Given the description of an element on the screen output the (x, y) to click on. 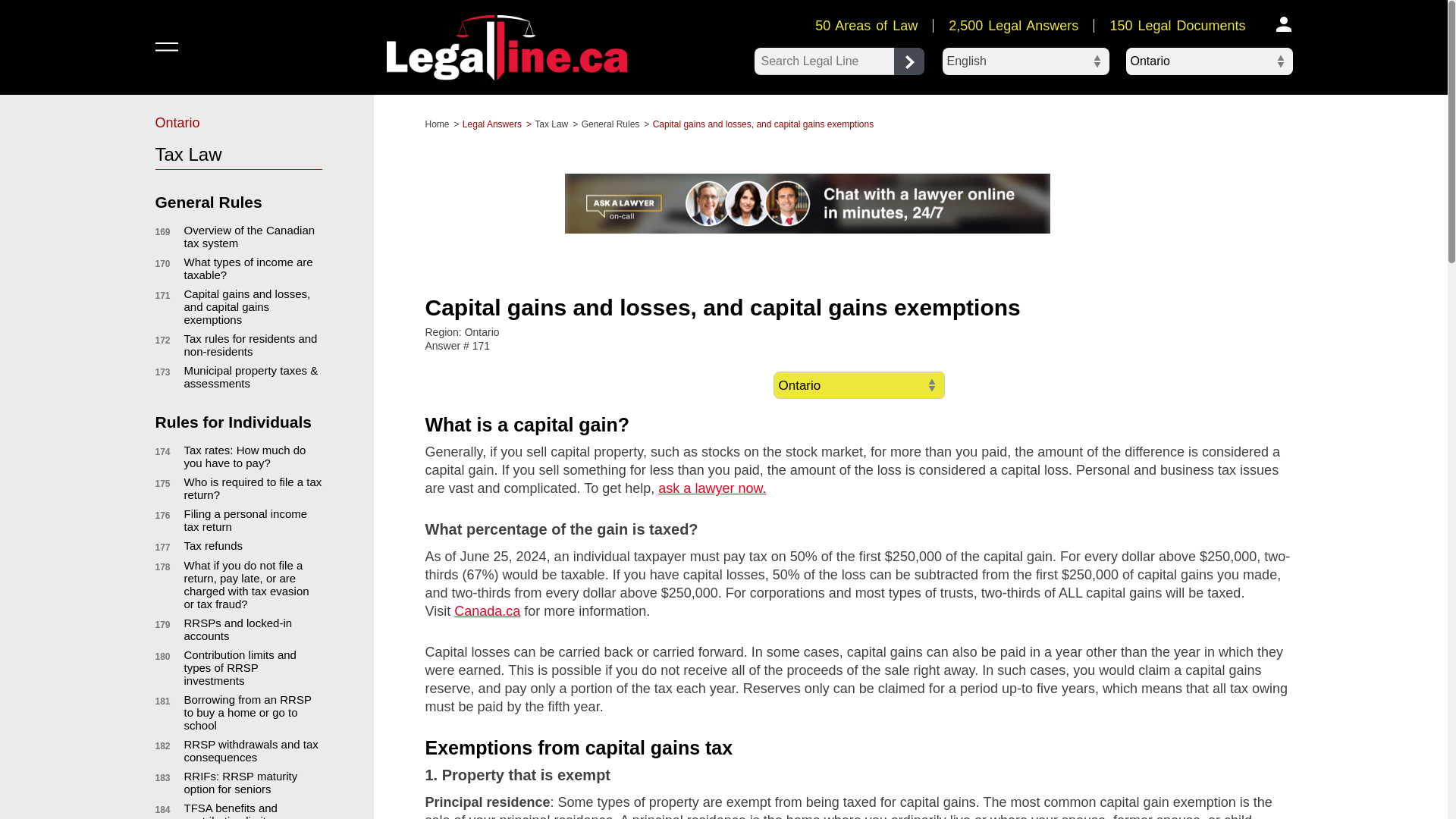
User Account (1283, 23)
2,500 Legal Answers (1013, 25)
150 Legal Documents (1176, 25)
Call a lawyer (807, 203)
What types of income are taxable? (248, 268)
50 Areas of Law (866, 25)
Overview of the Canadian tax system (248, 236)
Menu toggle (166, 46)
Capital gains and losses, and capital gains exemptions (246, 306)
